Given the description of an element on the screen output the (x, y) to click on. 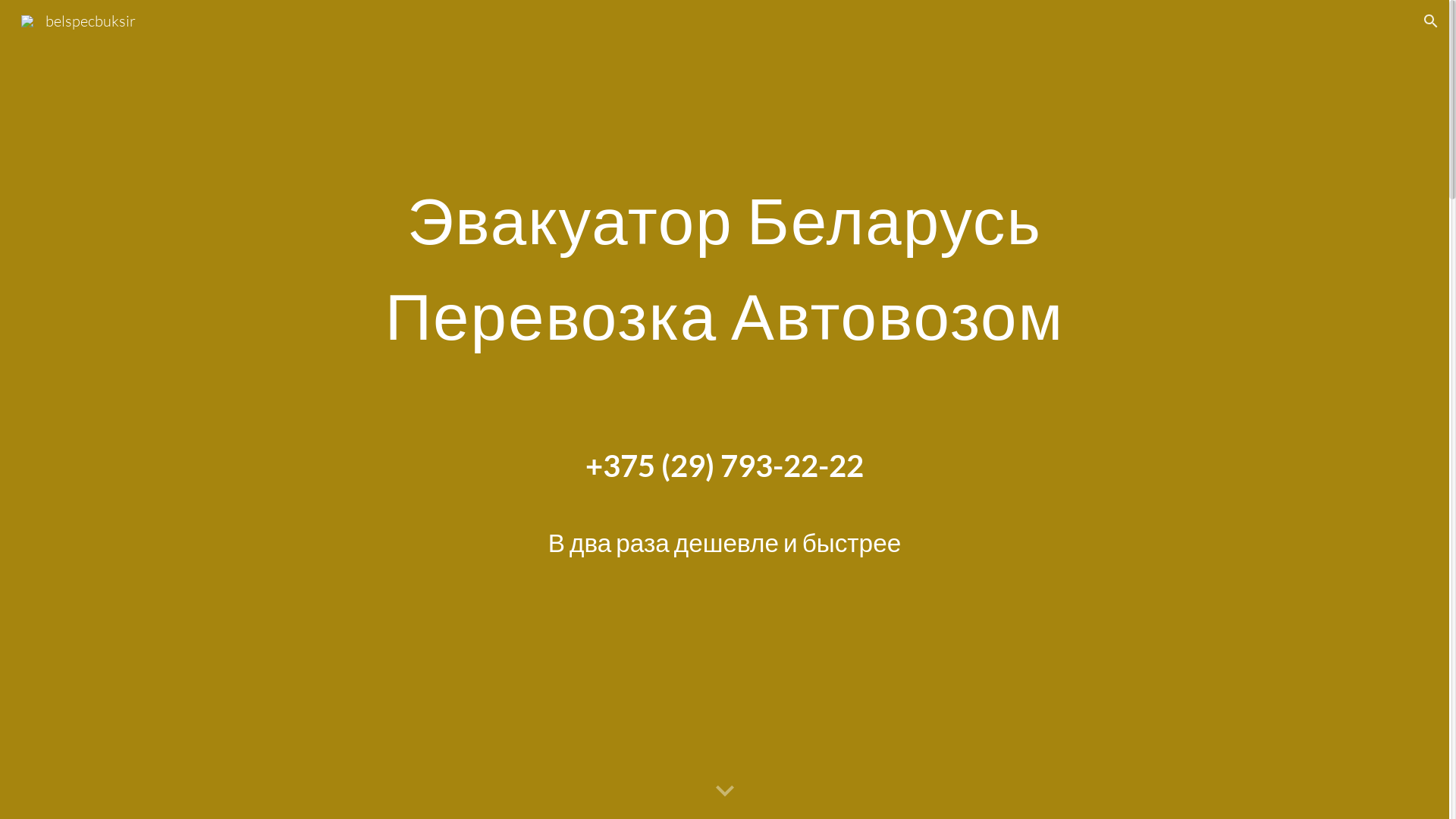
belspecbuksir Element type: text (78, 18)
